Given the description of an element on the screen output the (x, y) to click on. 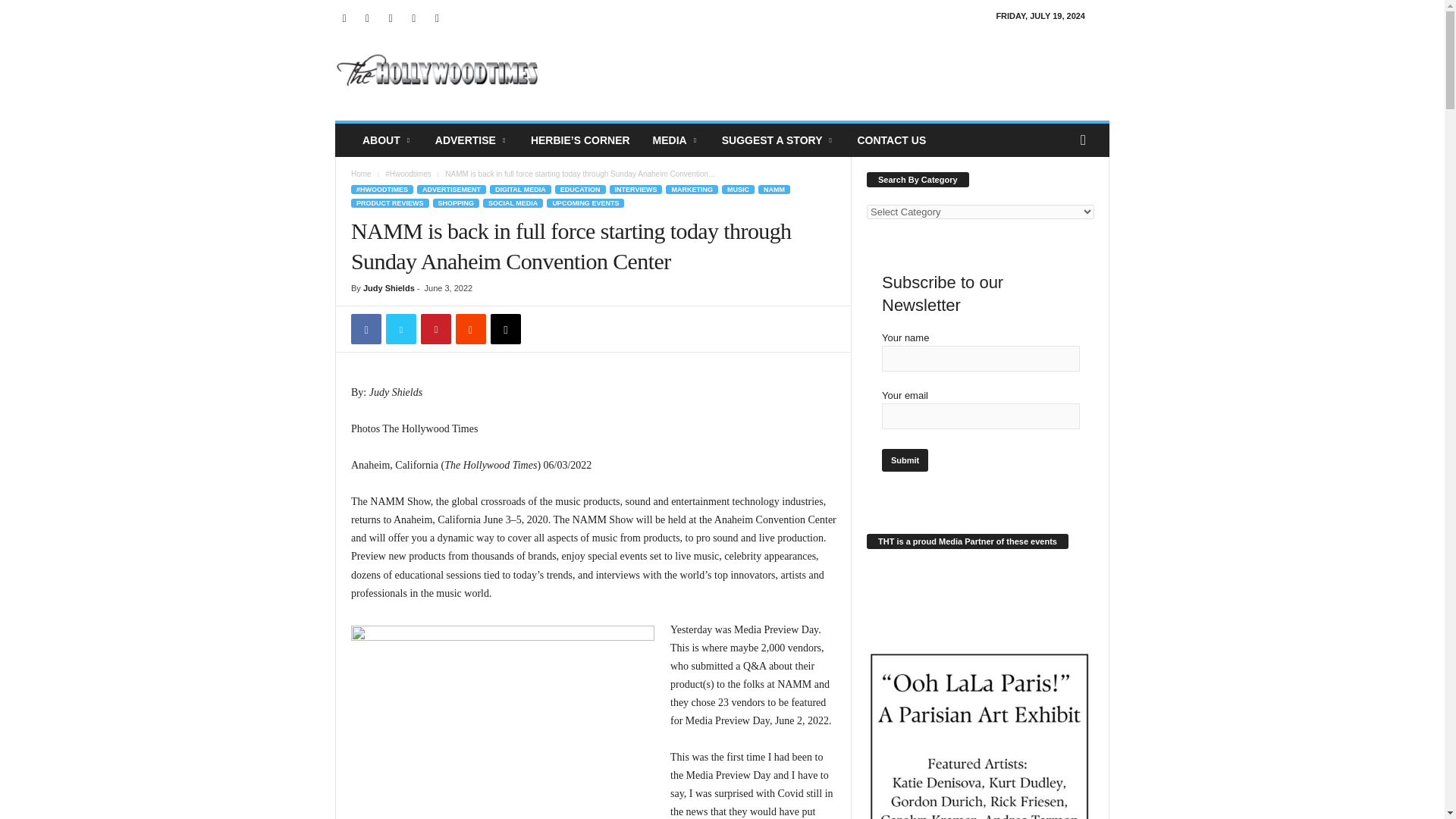
SUGGEST A STORY (777, 140)
MEDIA (676, 140)
Email (505, 328)
ReddIt (470, 328)
ABOUT (386, 140)
CONTACT US (891, 140)
Facebook (365, 328)
Pinterest (435, 328)
Hollywood Times (437, 70)
Twitter (400, 328)
Submit (905, 459)
ADVERTISE (471, 140)
